Given the description of an element on the screen output the (x, y) to click on. 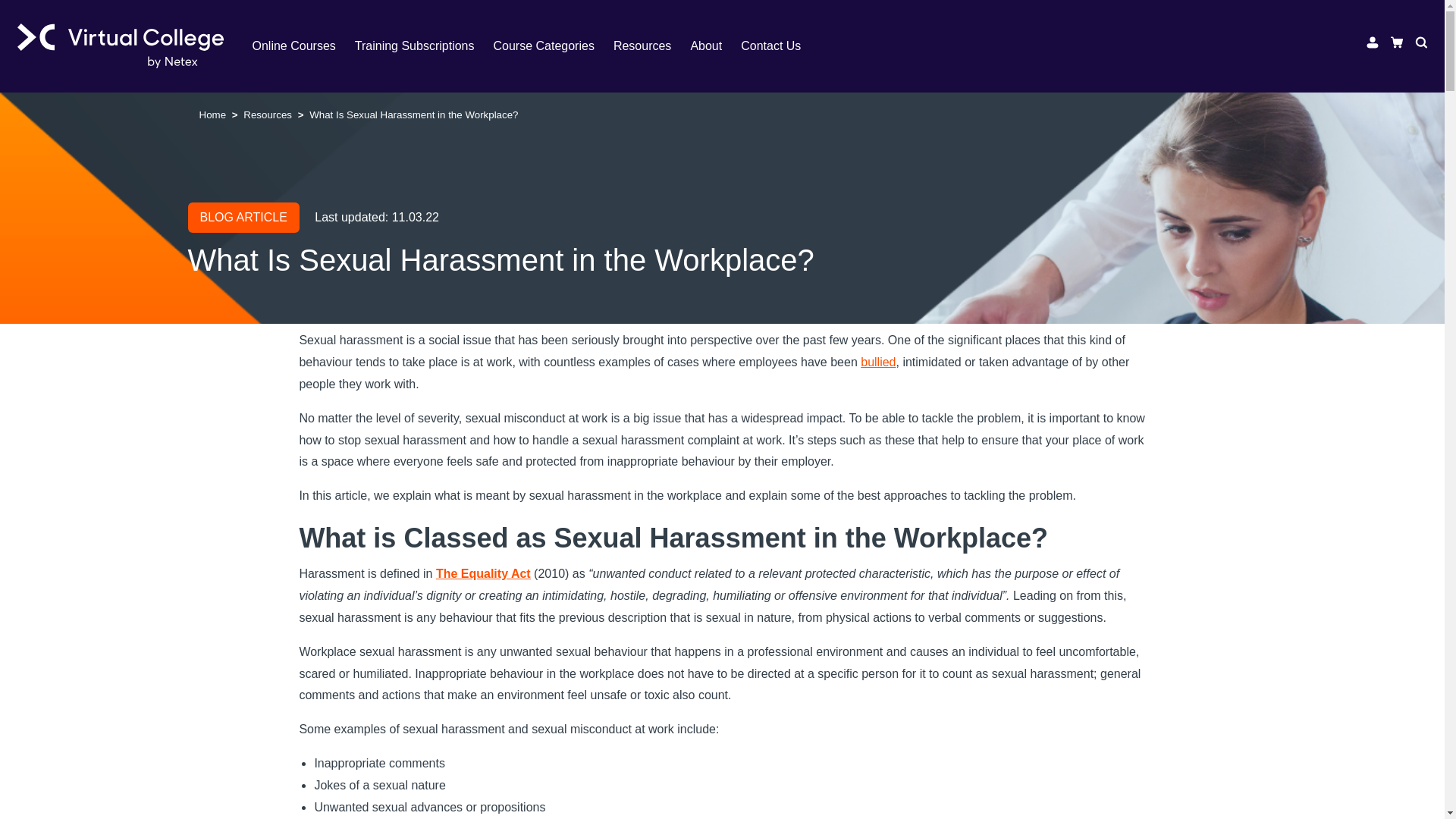
About (715, 45)
Course Categories (552, 45)
Resources (651, 45)
Online Courses (302, 45)
Contact Us (780, 45)
Training Subscriptions (424, 45)
